Given the description of an element on the screen output the (x, y) to click on. 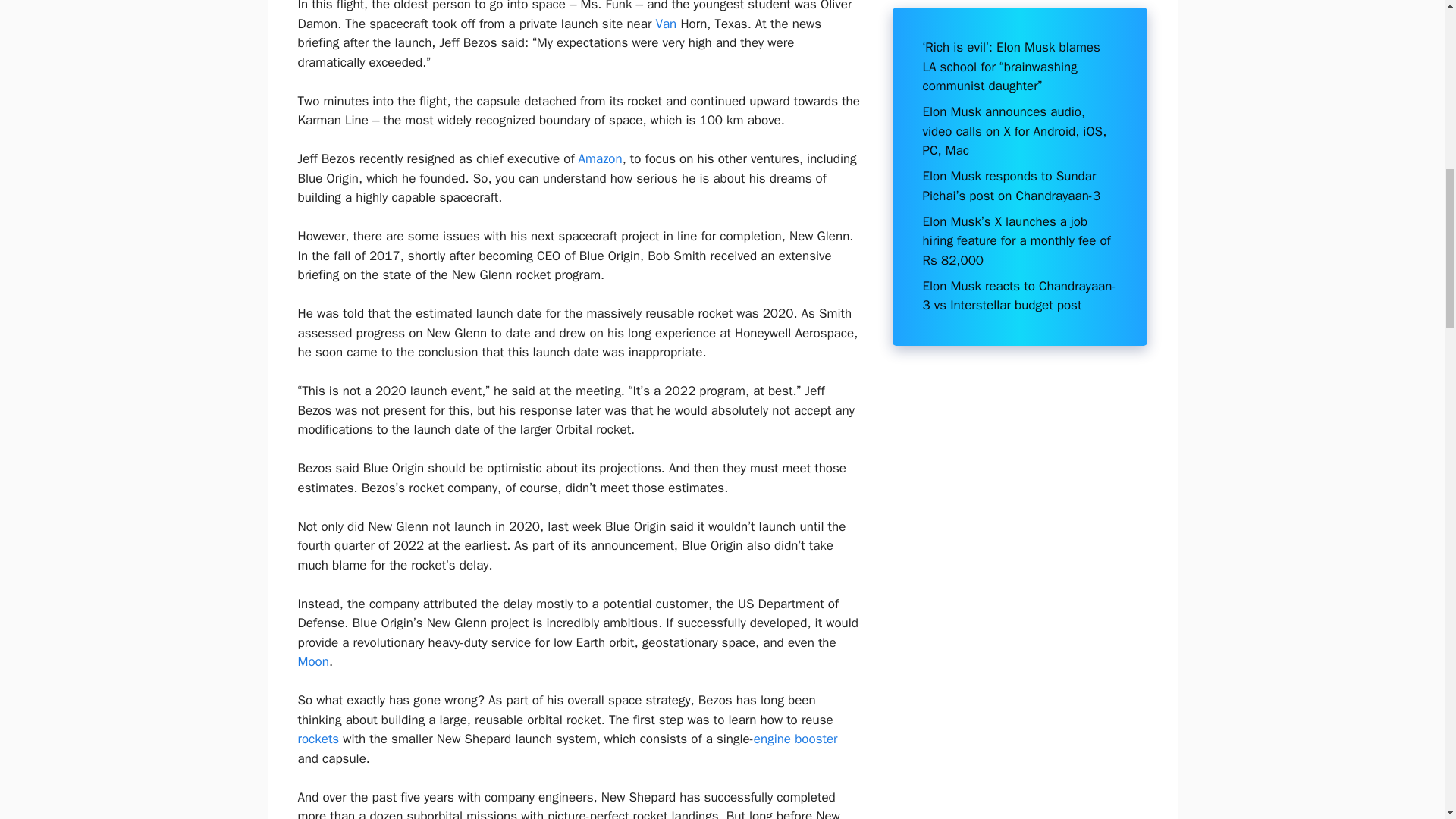
Amazon (600, 158)
rockets (318, 738)
booster (815, 738)
Amazon (600, 158)
Van (666, 23)
moon base (313, 661)
engine (772, 738)
Moon (313, 661)
Rockets (318, 738)
Van (666, 23)
